Given the description of an element on the screen output the (x, y) to click on. 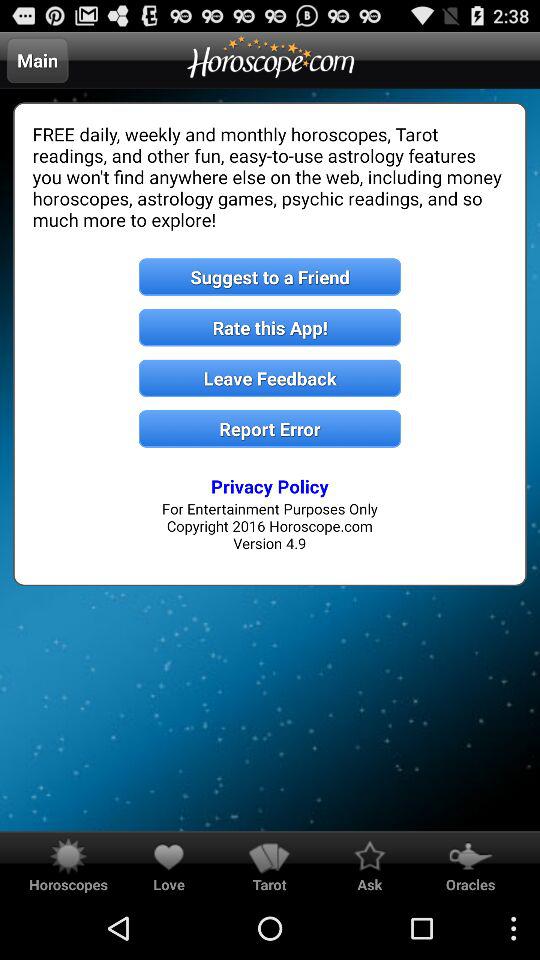
turn off button below suggest to a (269, 327)
